Given the description of an element on the screen output the (x, y) to click on. 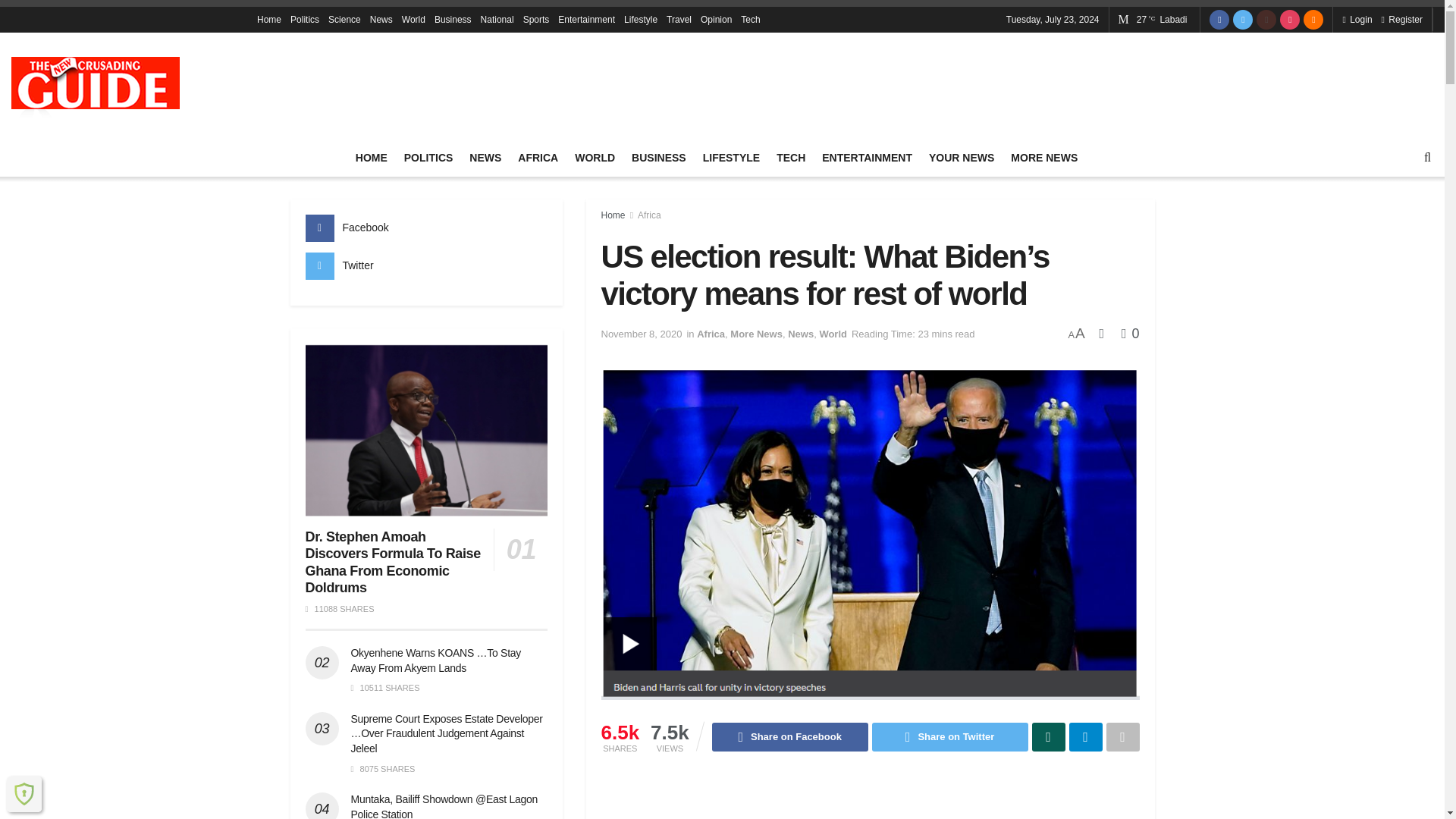
National (496, 19)
POLITICS (428, 157)
Home (269, 19)
AFRICA (537, 157)
World (413, 19)
Politics (303, 19)
FOLLOW US (721, 4)
Login (1356, 19)
BUSINESS (658, 157)
YOUR NEWS (961, 157)
WORLD (594, 157)
Lifestyle (641, 19)
Opinion (716, 19)
LIFESTYLE (731, 157)
MORE NEWS (1043, 157)
